Given the description of an element on the screen output the (x, y) to click on. 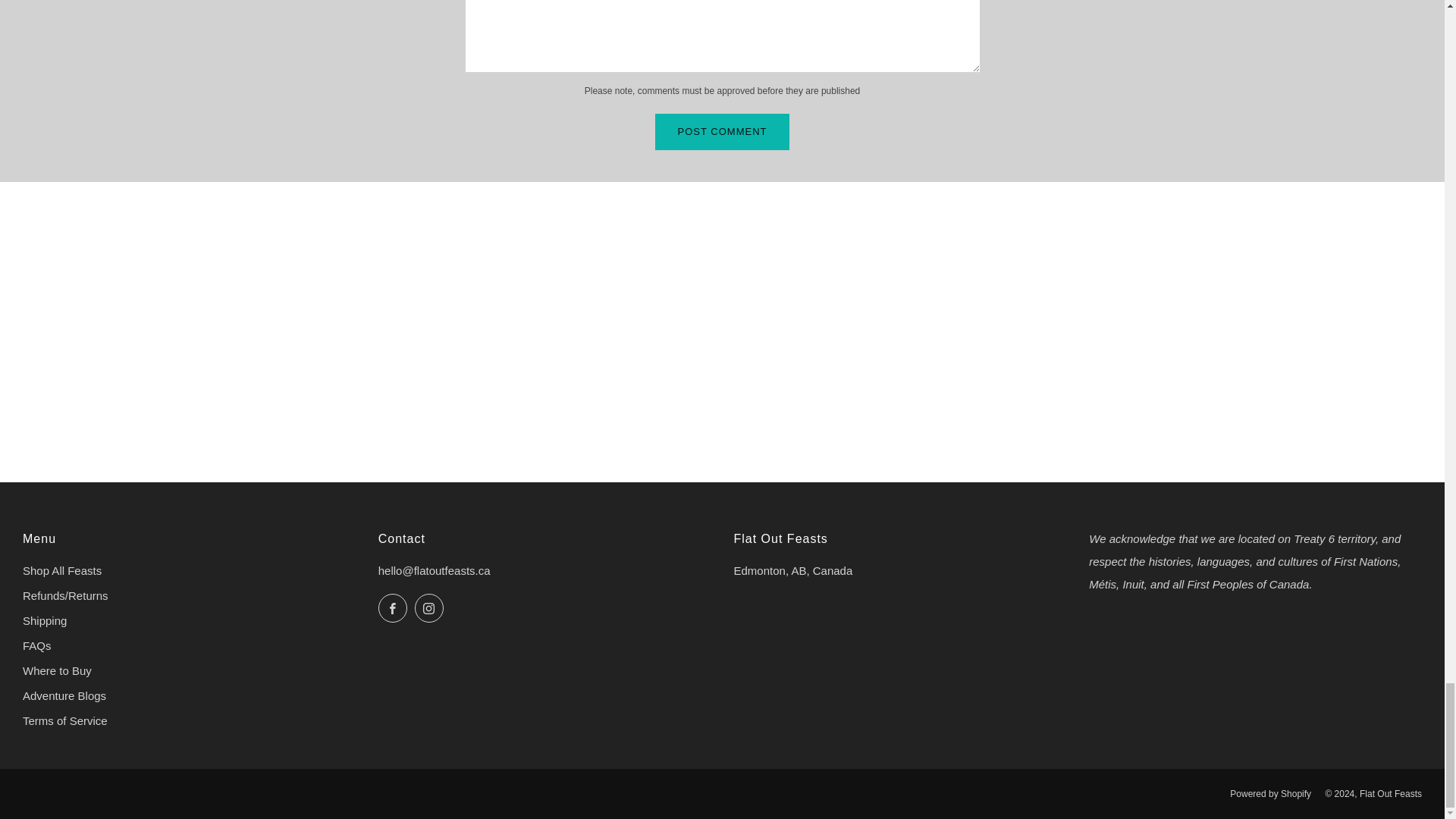
Post comment (722, 131)
Where to Buy (57, 670)
Shipping (44, 620)
Terms of Service (65, 720)
Shop All Feasts (62, 570)
FAQs (36, 645)
Post comment (722, 131)
Adventure Blogs (64, 695)
